Given the description of an element on the screen output the (x, y) to click on. 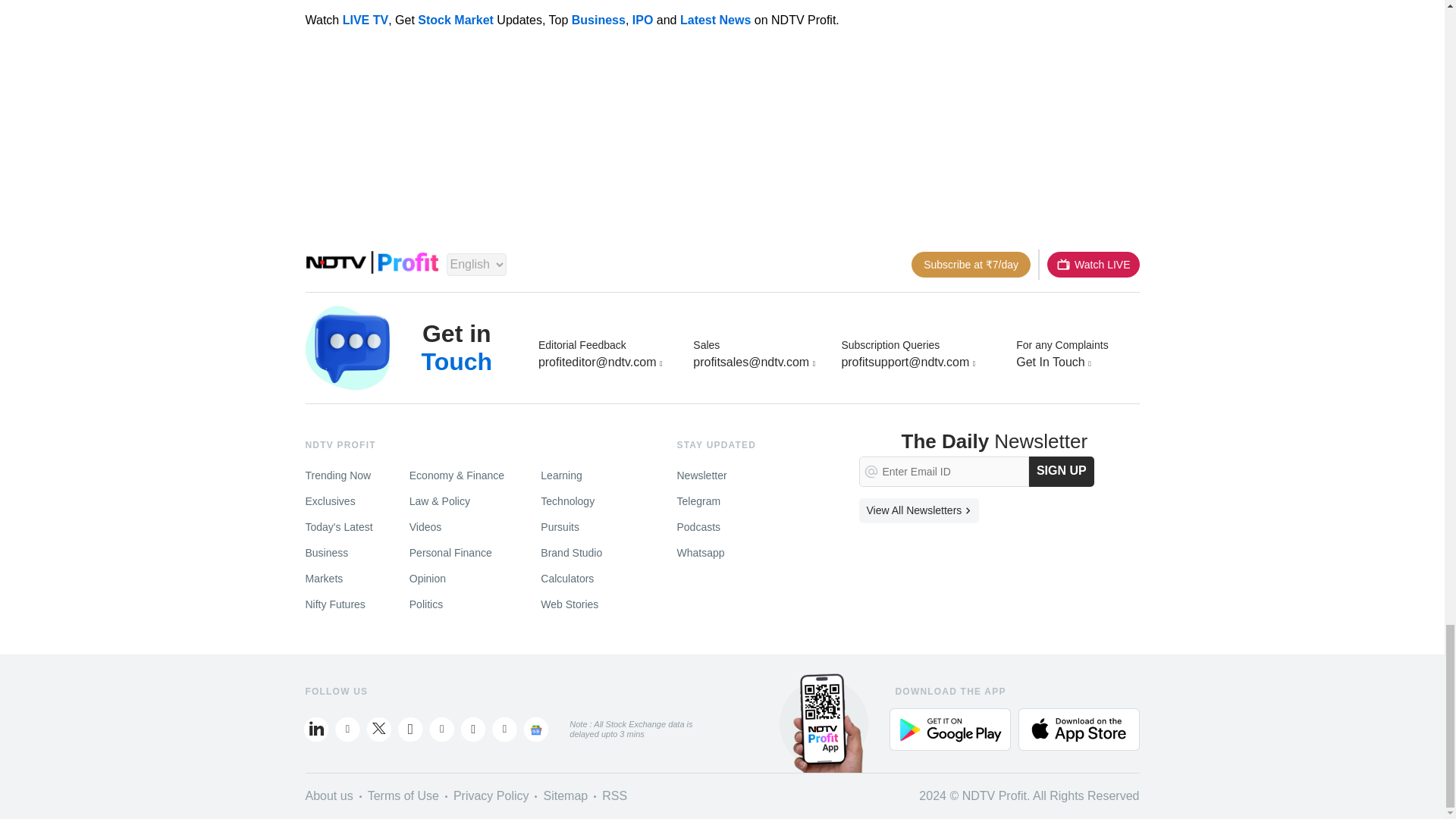
Live TV (1092, 264)
